Given the description of an element on the screen output the (x, y) to click on. 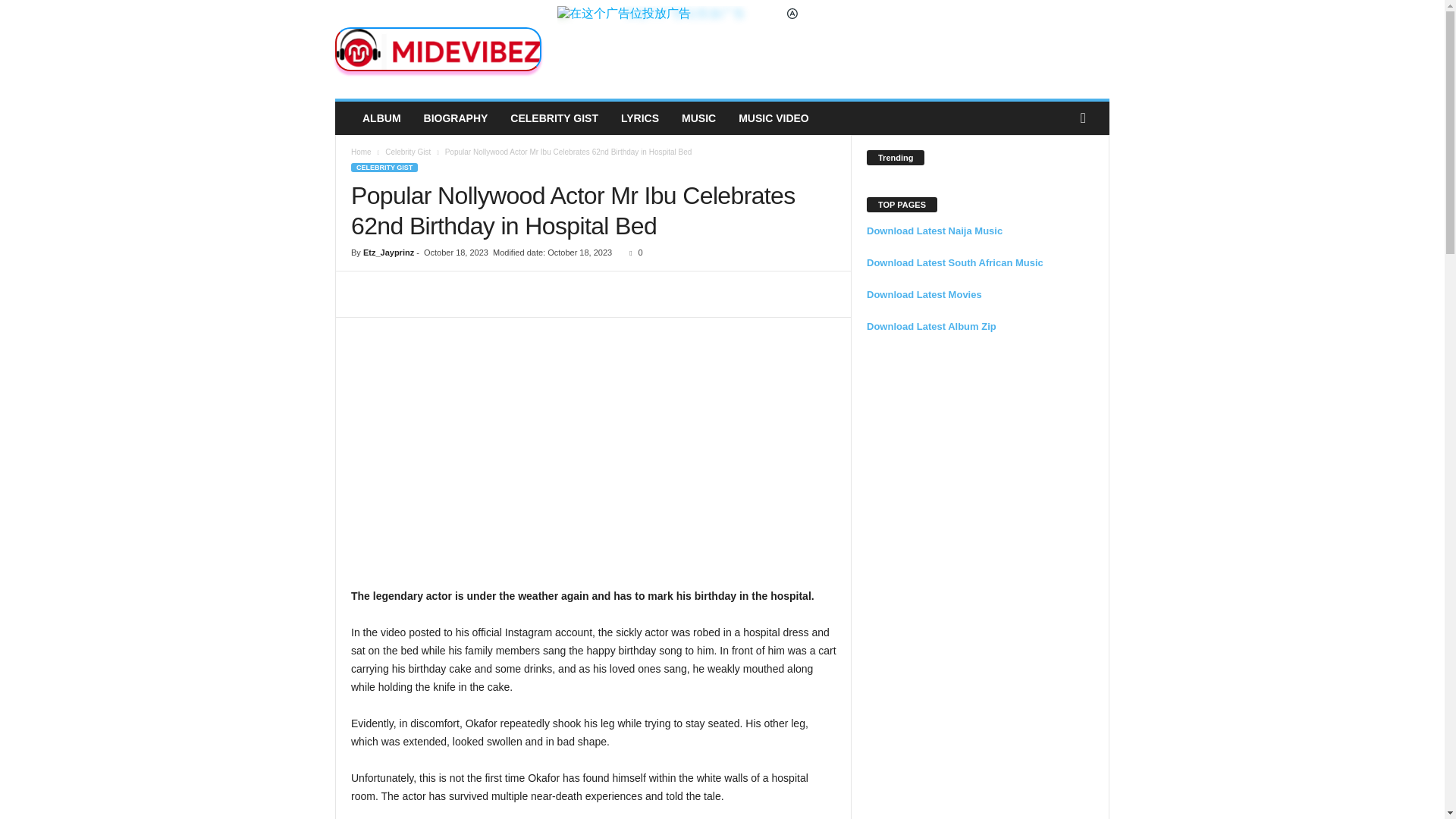
CELEBRITY GIST (554, 118)
ALBUM (381, 118)
BIOGRAPHY (455, 118)
LYRICS (639, 118)
View all posts in Celebrity Gist (407, 152)
MideVibez (437, 48)
MUSIC (697, 118)
